Given the description of an element on the screen output the (x, y) to click on. 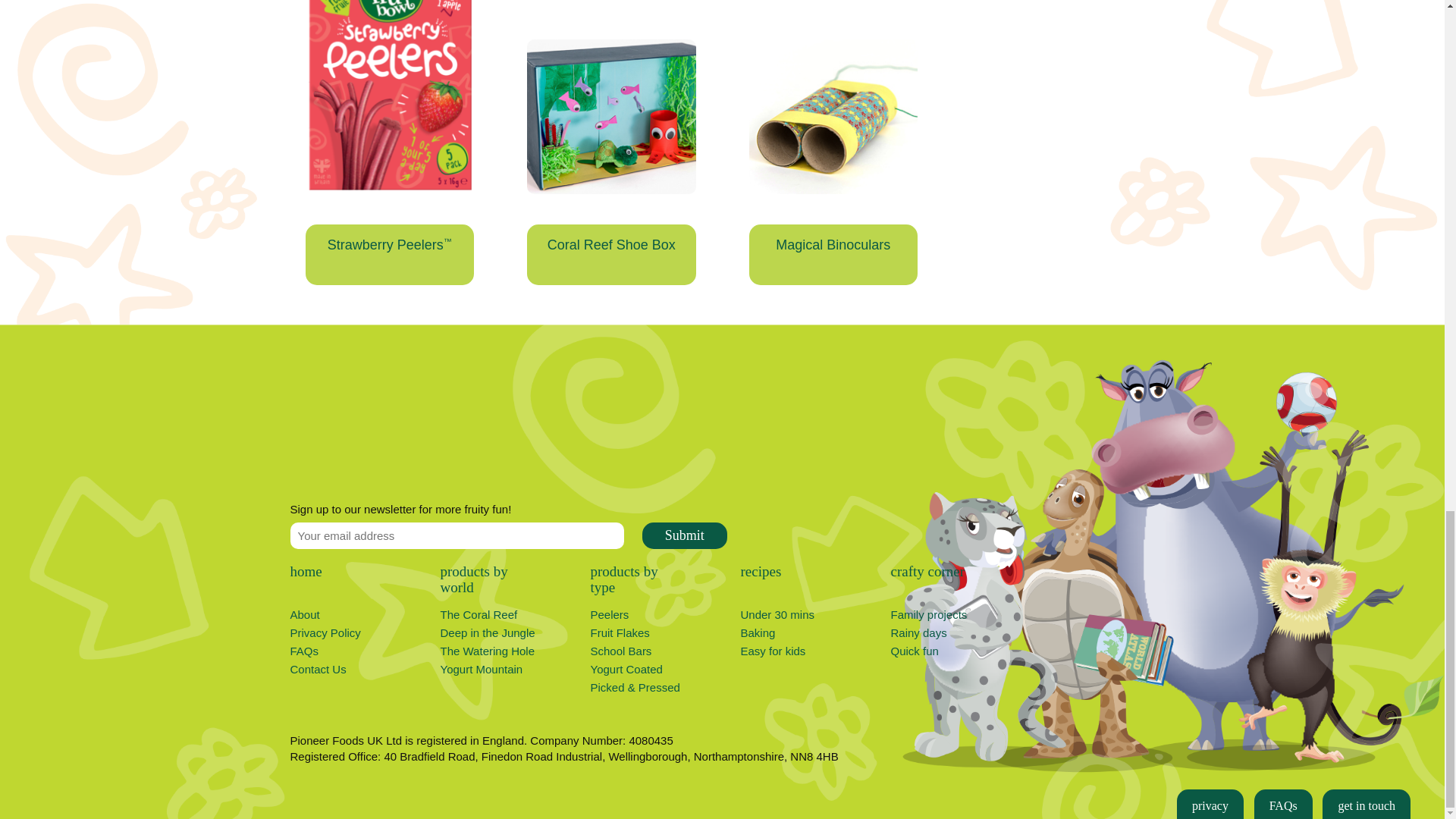
About (303, 614)
Privacy Policy (324, 632)
Submit (684, 535)
Coral Reef Shoe Box (611, 254)
Magical Binoculars (833, 254)
FAQs (303, 650)
Contact Us (317, 668)
